Given the description of an element on the screen output the (x, y) to click on. 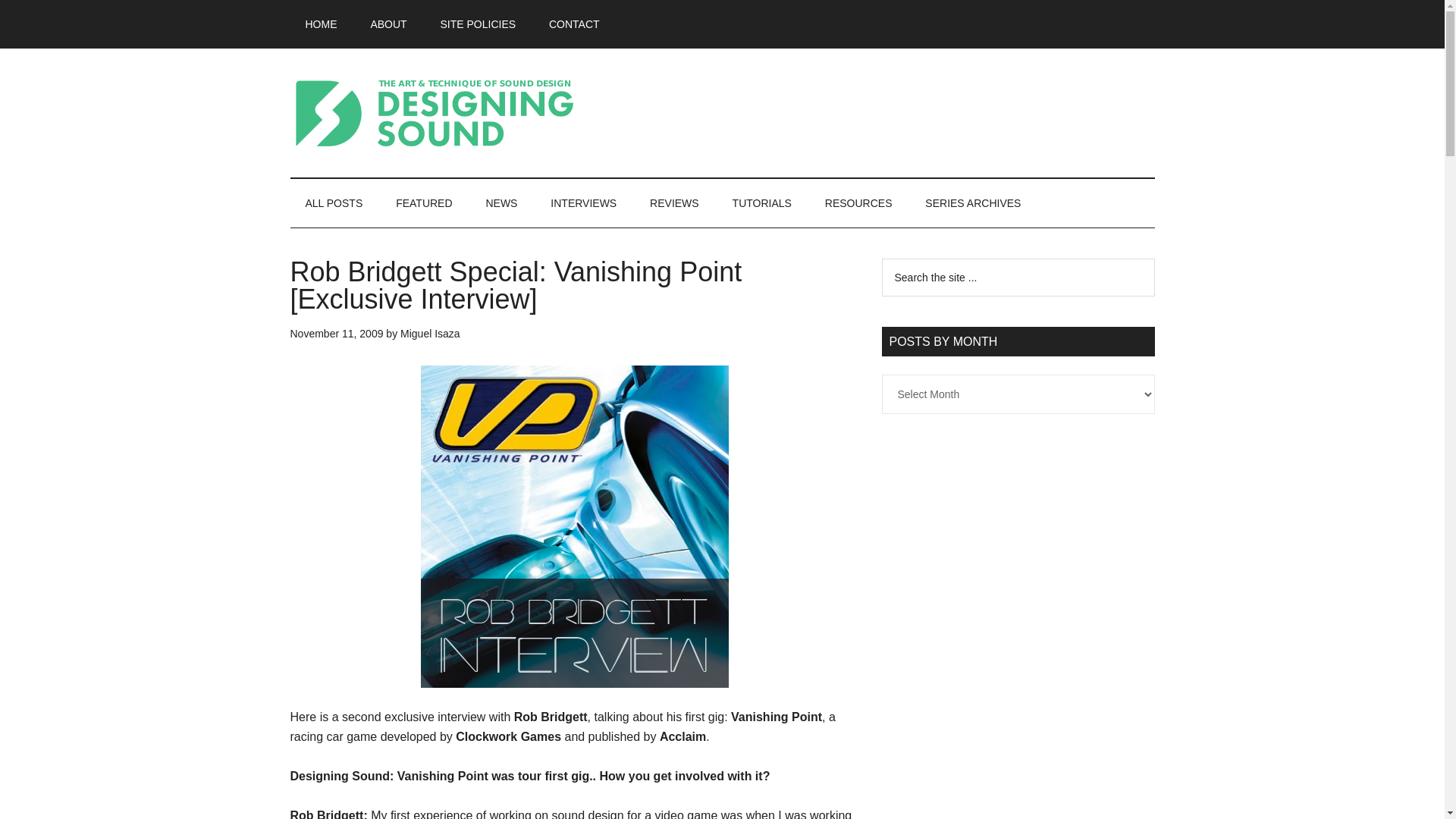
TUTORIALS (761, 203)
SERIES ARCHIVES (972, 203)
REVIEWS (674, 203)
ABOUT (388, 24)
CONTACT (574, 24)
Designing Sound (433, 112)
INTERVIEWS (583, 203)
RESOURCES (858, 203)
HOME (320, 24)
ALL POSTS (333, 203)
Miguel Isaza (430, 333)
FEATURED (423, 203)
SITE POLICIES (478, 24)
